Given the description of an element on the screen output the (x, y) to click on. 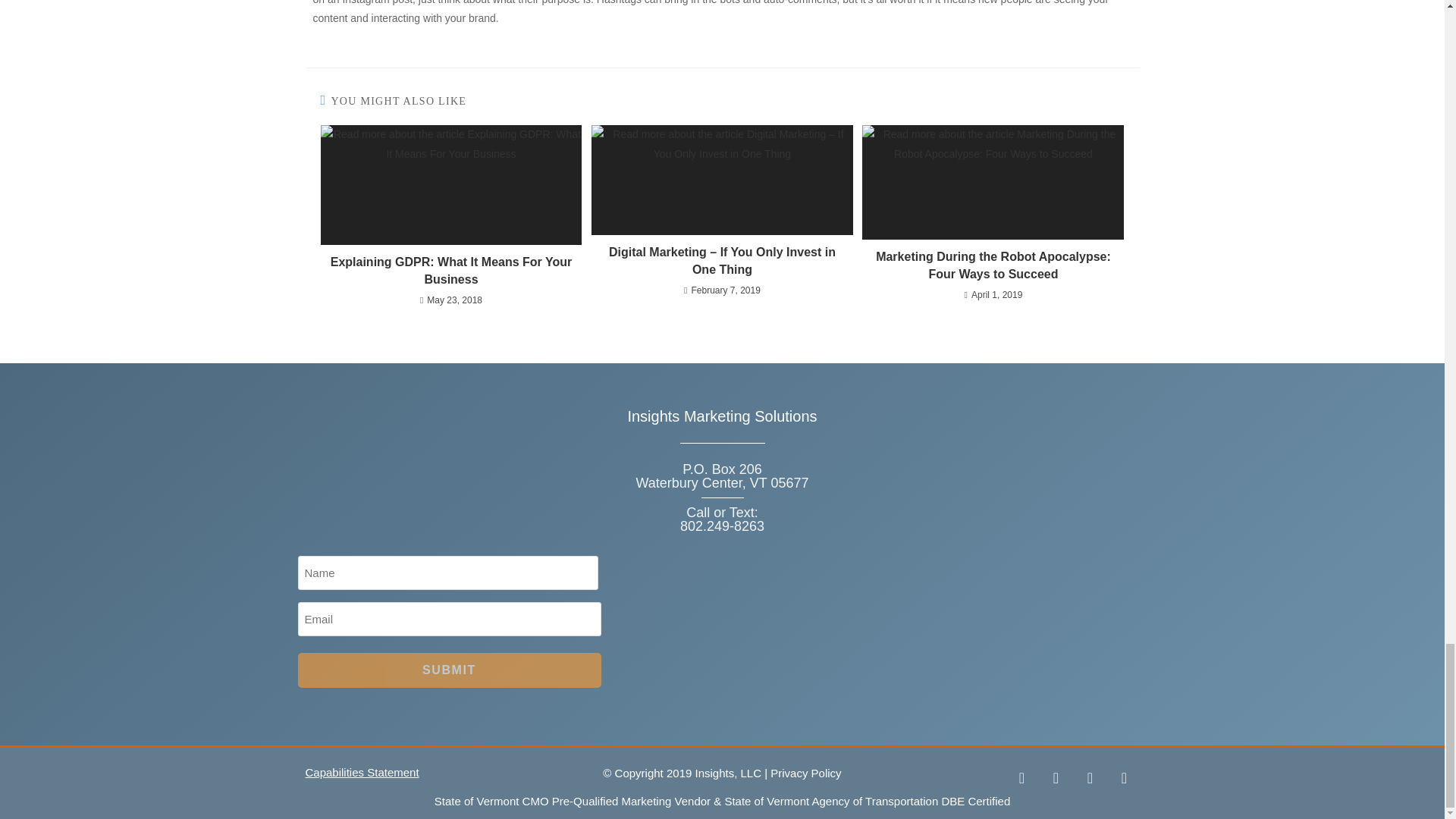
Marketing During the Robot Apocalypse: Four Ways to Succeed (992, 265)
Explaining GDPR: What It Means For Your Business (450, 270)
Insights Marketing Solutions (721, 416)
Submit (448, 669)
Capabilities Statement (361, 771)
Submit (448, 669)
